Given the description of an element on the screen output the (x, y) to click on. 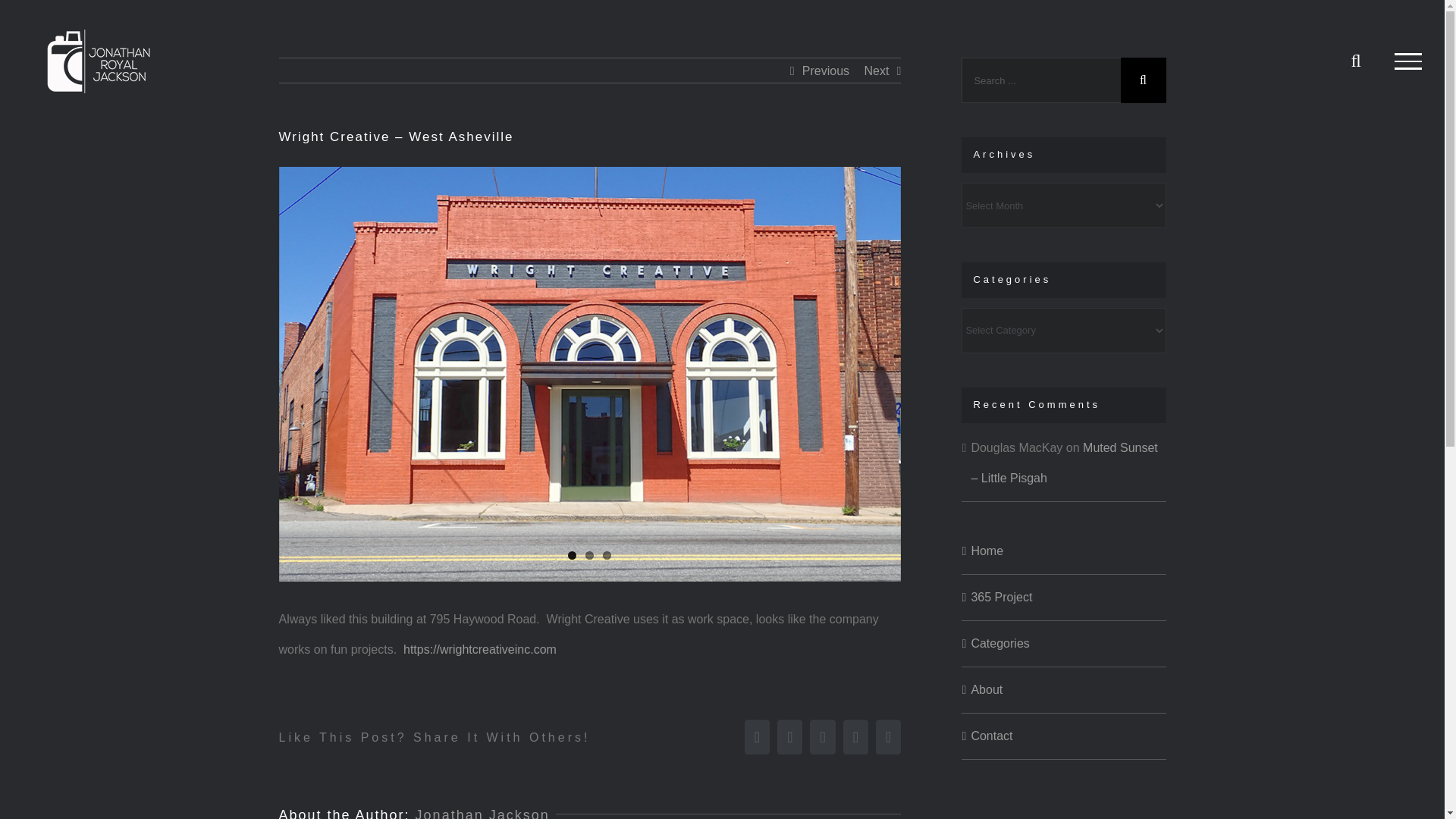
Jonathan Jackson (482, 813)
Previous (825, 71)
2 (589, 555)
Posts by Jonathan Jackson (482, 813)
365 Project (1001, 596)
1 (571, 555)
3 (606, 555)
Next (875, 71)
